Given the description of an element on the screen output the (x, y) to click on. 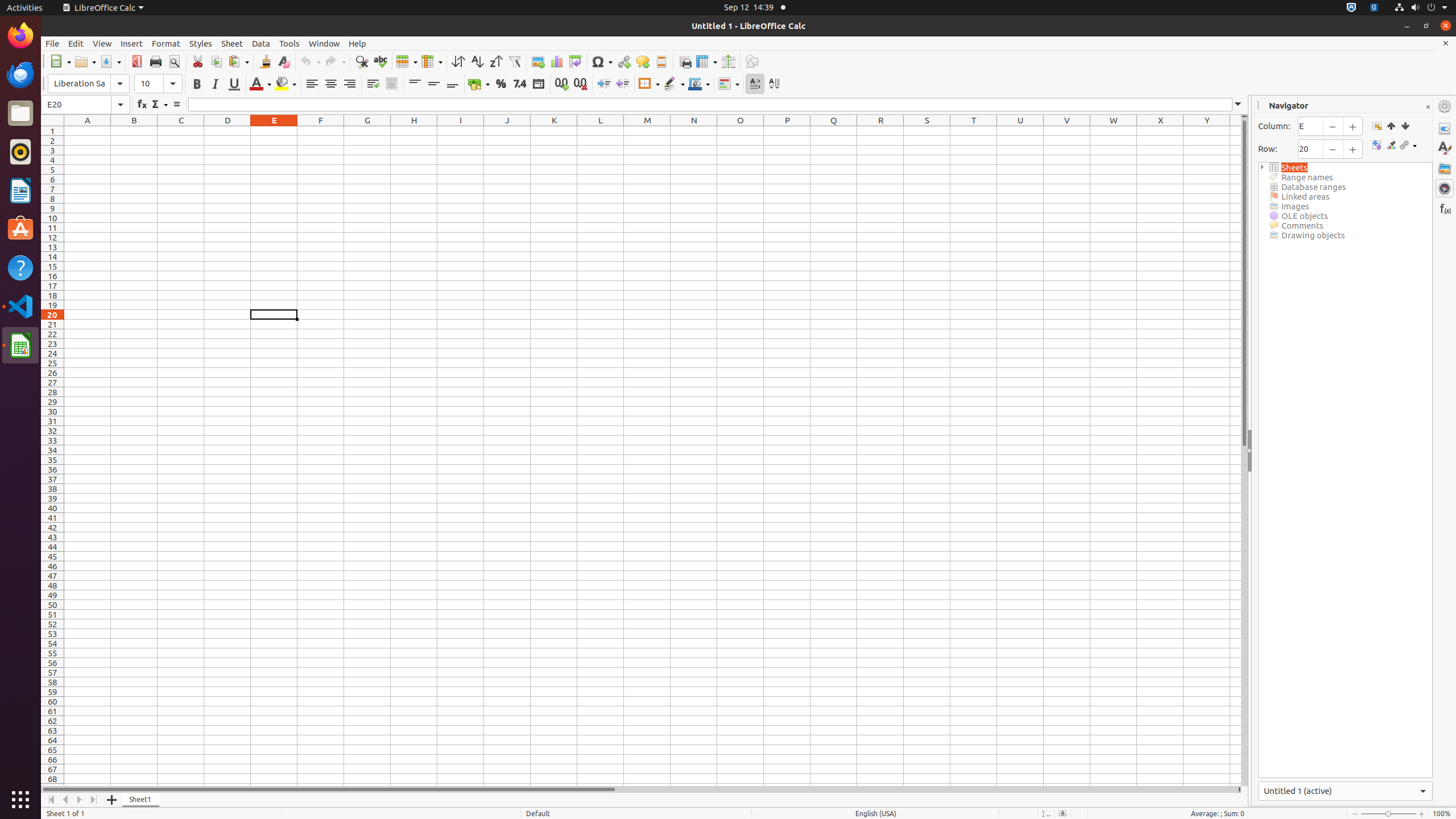
:1.72/StatusNotifierItem Element type: menu (1350, 7)
Border Style Element type: push-button (673, 83)
Wrap Text Element type: push-button (372, 83)
B1 Element type: table-cell (133, 130)
Close Sidebar Deck Element type: push-button (1427, 106)
